Given the description of an element on the screen output the (x, y) to click on. 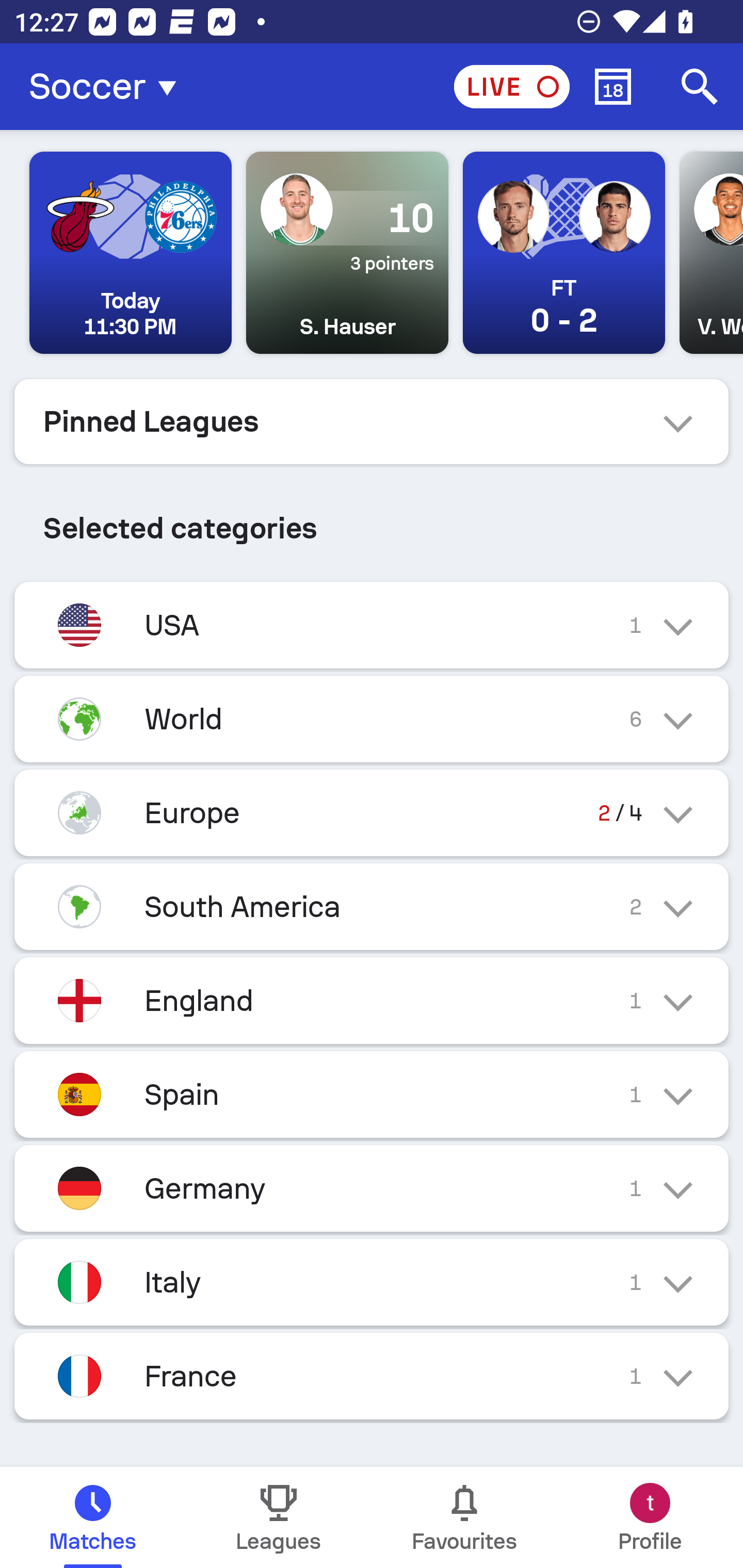
Soccer (108, 86)
Calendar (612, 86)
Search (699, 86)
Today
11:30 PM (130, 253)
FT 0 - 2 (563, 253)
Pinned Leagues (371, 421)
Selected categories (371, 520)
USA 1 (371, 624)
World 6 (371, 718)
Europe 2 / 4 (371, 812)
South America 2 (371, 906)
England 1 (371, 1001)
Spain 1 (371, 1094)
Germany 1 (371, 1188)
Italy 1 (371, 1281)
France 1 (371, 1375)
Leagues (278, 1517)
Favourites (464, 1517)
Profile (650, 1517)
